Given the description of an element on the screen output the (x, y) to click on. 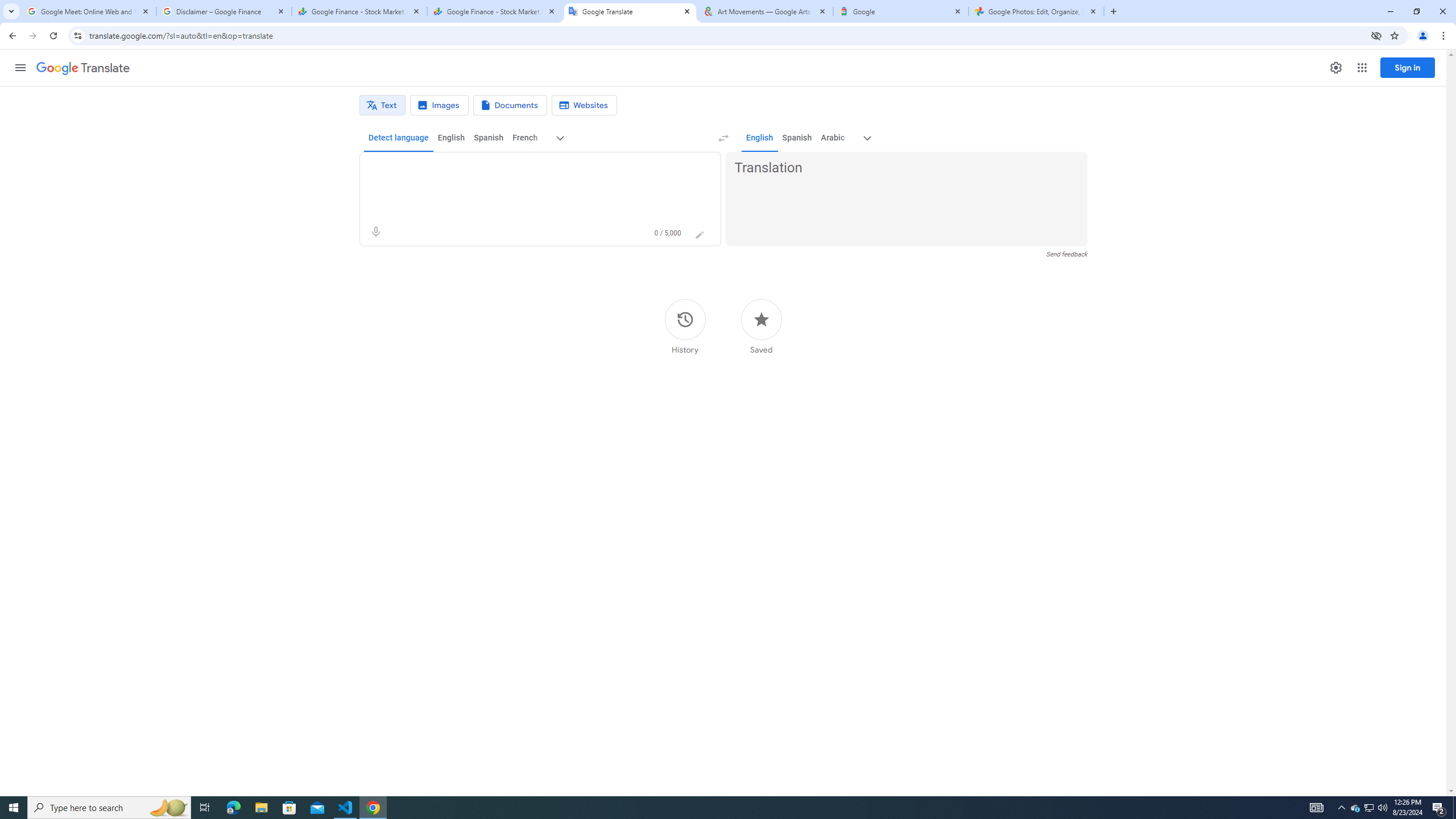
0 of 5,000 characters used (667, 232)
Translate by voice (375, 231)
French (524, 137)
